Given the description of an element on the screen output the (x, y) to click on. 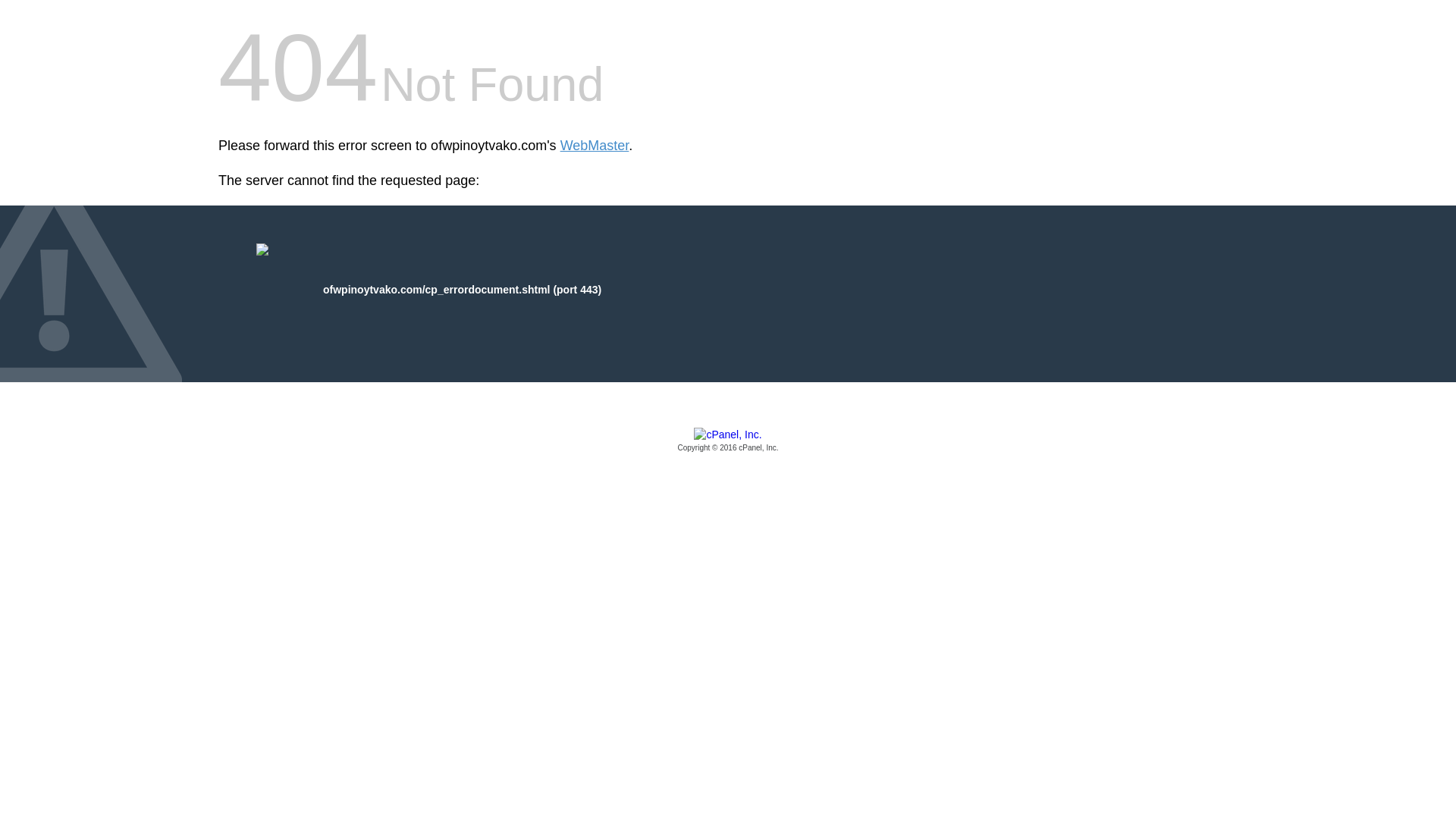
WebMaster (594, 145)
cPanel, Inc. (727, 440)
